Given the description of an element on the screen output the (x, y) to click on. 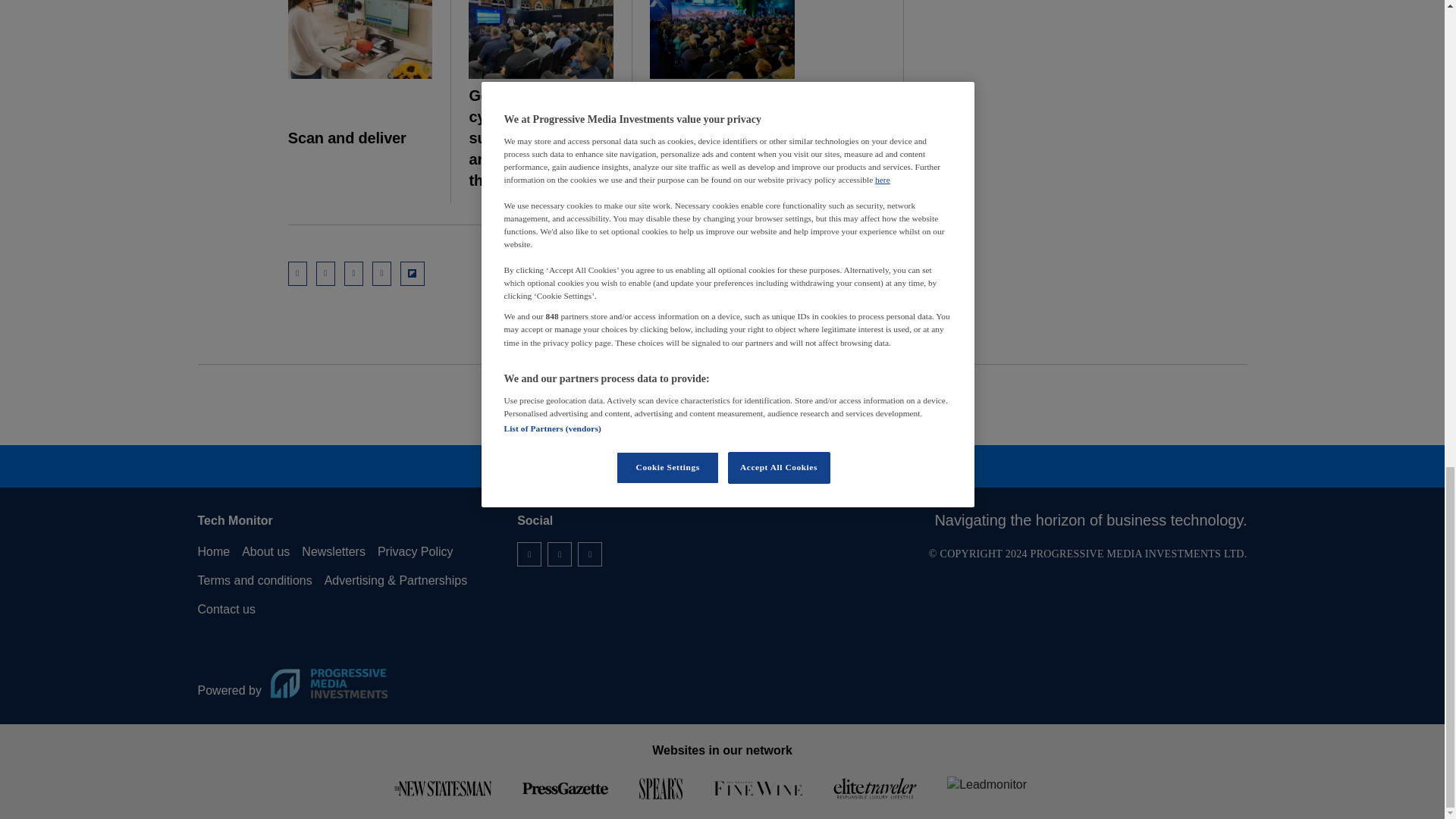
Share on Flipboard (412, 273)
Scan and deliver (360, 39)
